Given the description of an element on the screen output the (x, y) to click on. 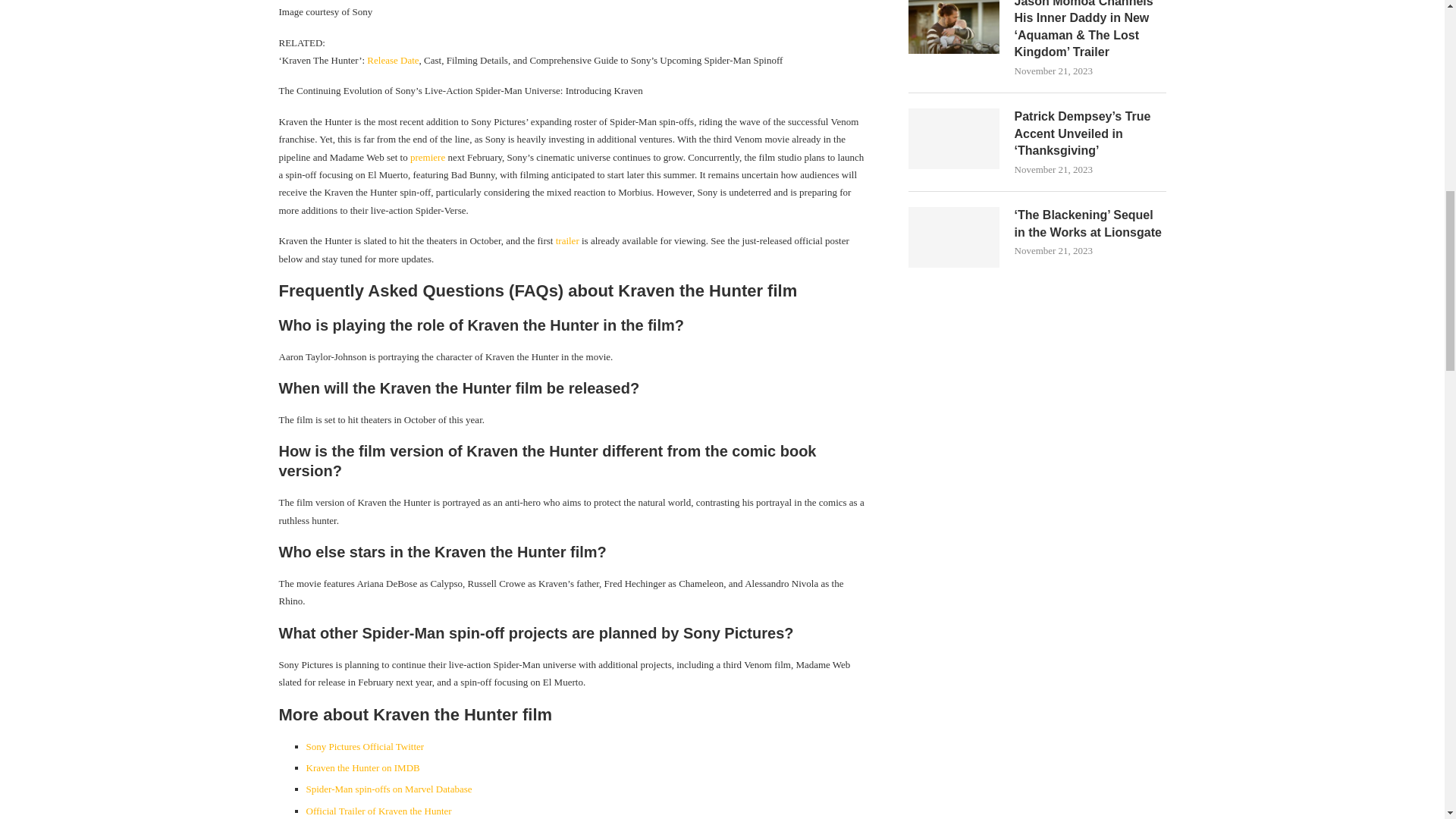
Sony Pictures Official Twitter (365, 746)
trailer (567, 240)
Kraven the Hunter on IMDB (362, 767)
Spider-Man spin-offs on Marvel Database (388, 788)
premiere (427, 156)
Release Date (392, 60)
Official Trailer of Kraven the Hunter (378, 810)
